Given the description of an element on the screen output the (x, y) to click on. 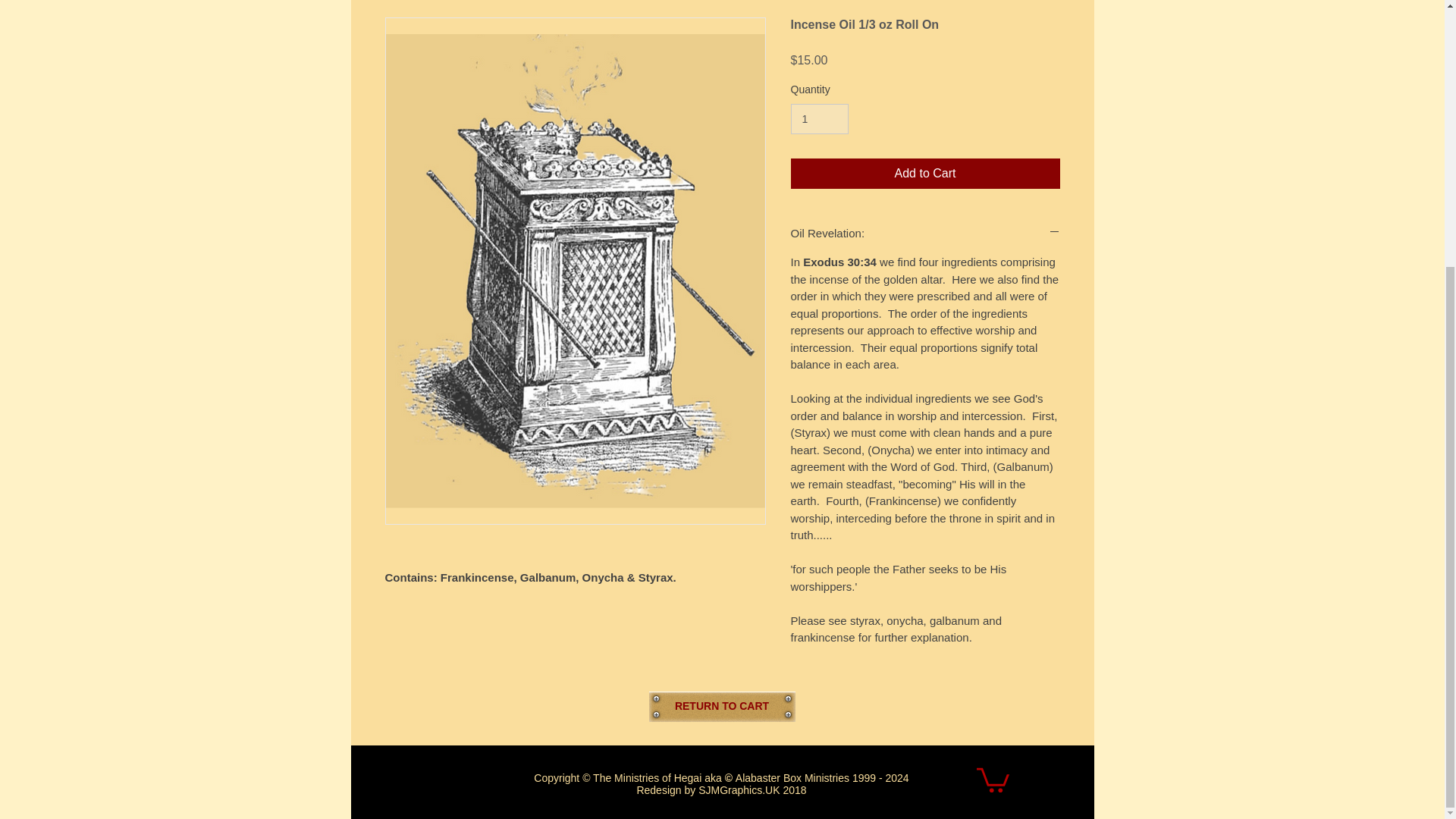
Add to Cart (924, 173)
Oil Revelation: (924, 232)
RETURN TO CART (721, 706)
1 (818, 119)
